Given the description of an element on the screen output the (x, y) to click on. 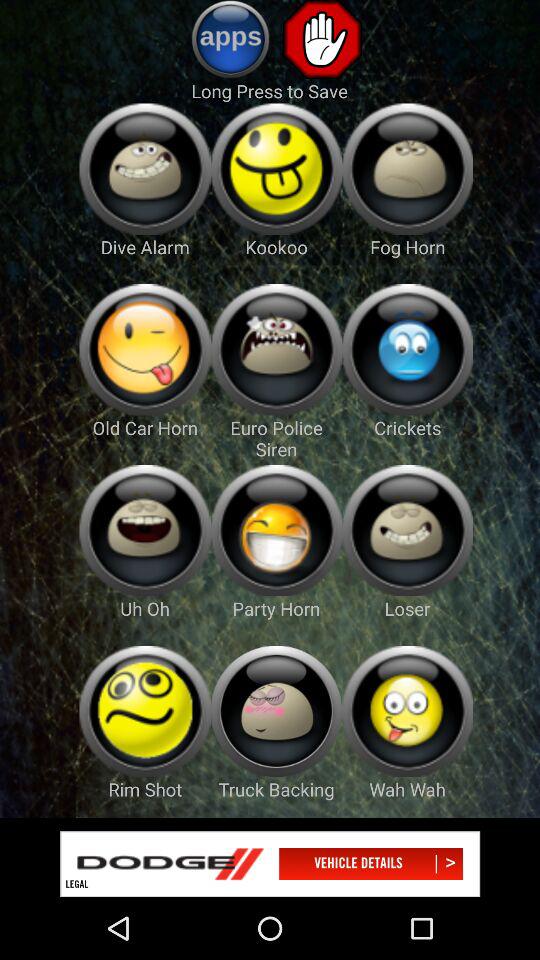
select option button (276, 349)
